Given the description of an element on the screen output the (x, y) to click on. 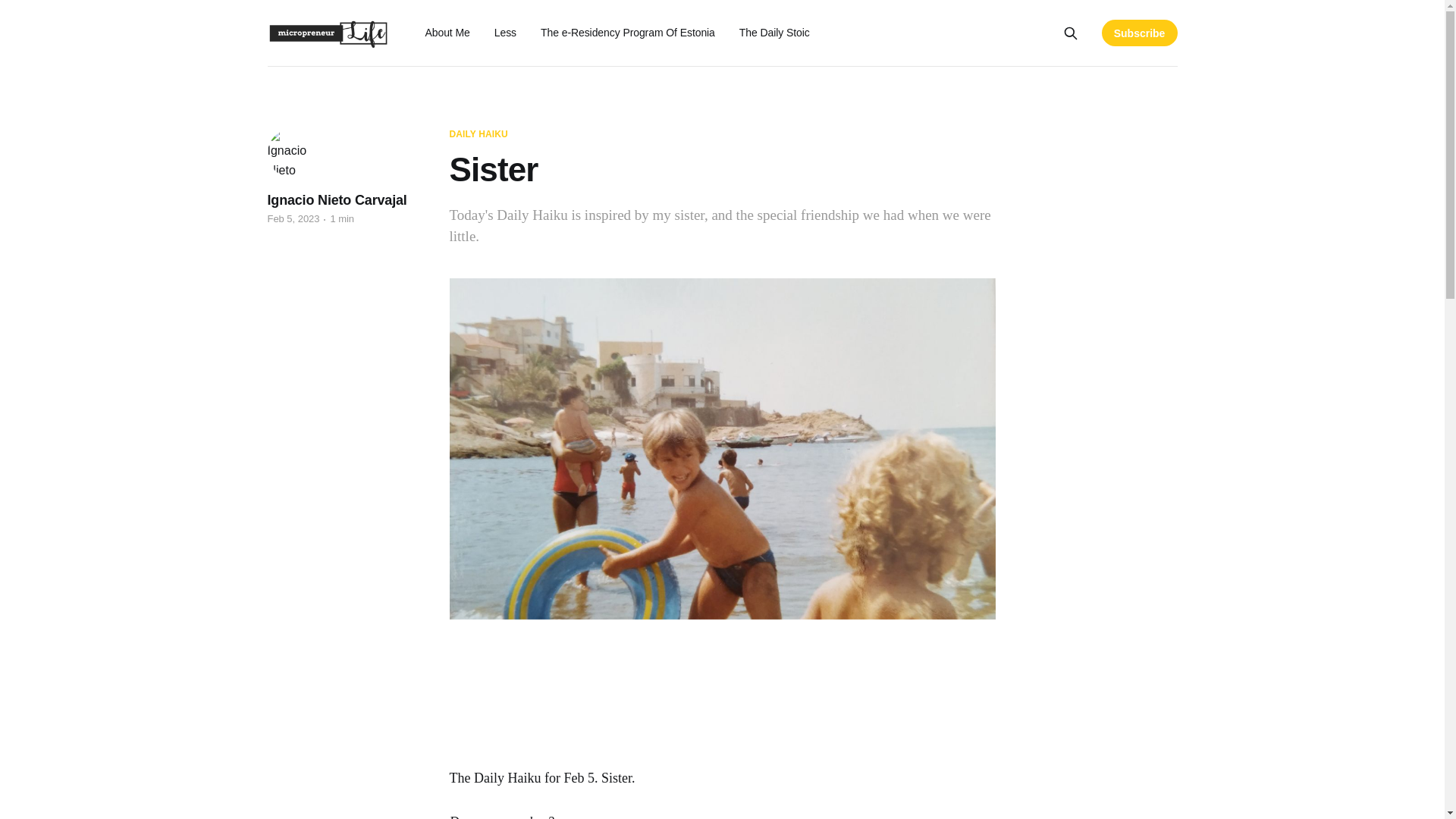
Ignacio Nieto Carvajal (336, 199)
The e-Residency Program Of Estonia (627, 32)
Less (505, 32)
The Daily Stoic (774, 32)
DAILY HAIKU (477, 134)
Subscribe (1139, 32)
About Me (446, 32)
